Given the description of an element on the screen output the (x, y) to click on. 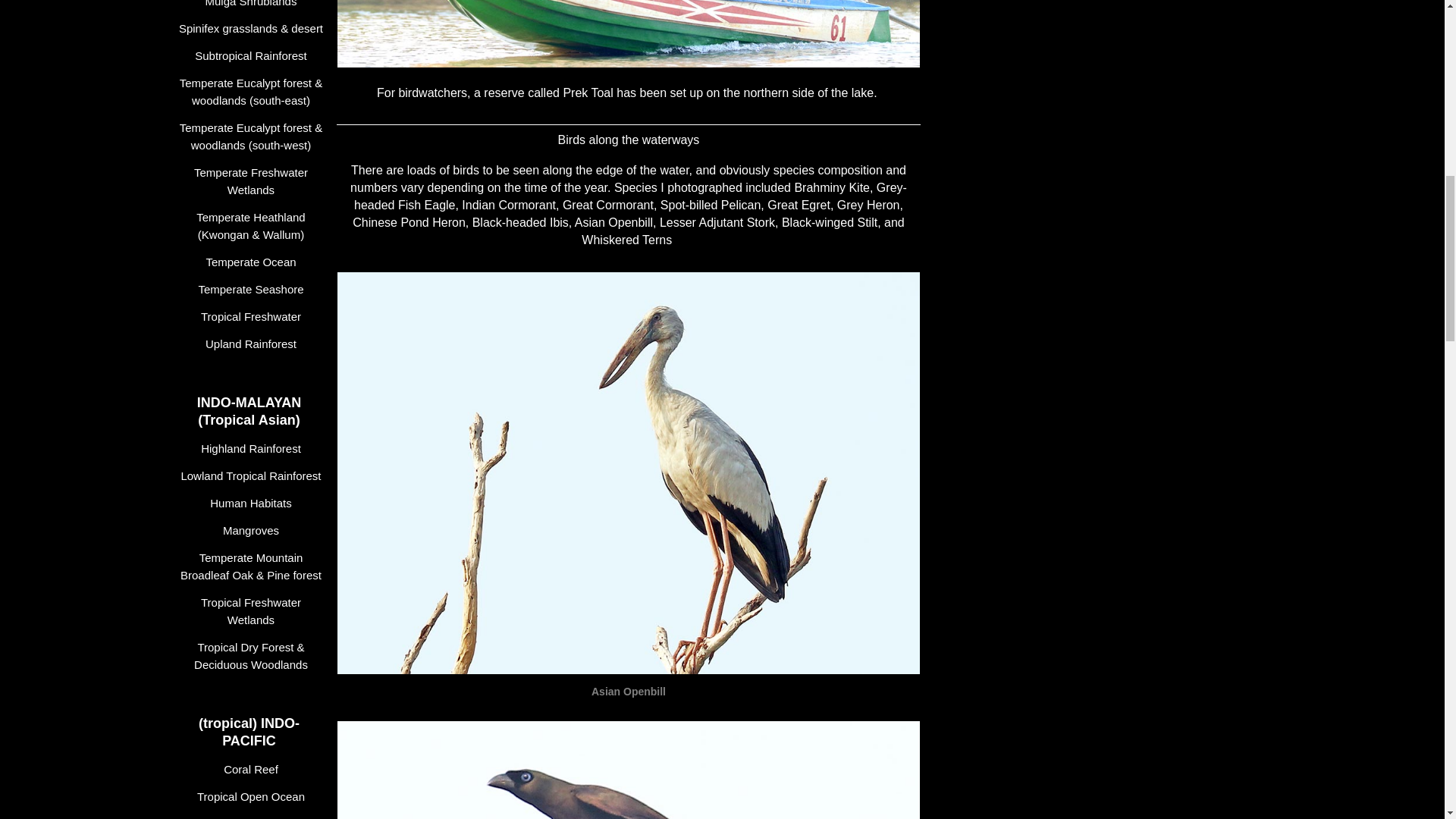
Tropical Freshwater Wetlands (253, 610)
Coral Reef (253, 769)
Upland Rainforest (253, 343)
Temperate Ocean (253, 261)
Tropical Freshwater (253, 316)
Human Habitats (253, 502)
Lowland Tropical Rainforest (253, 475)
Mangroves (253, 529)
PACIFIC Island Rainforest (253, 815)
Subtropical Rainforest (253, 55)
Mulga Shrublands (253, 6)
Temperate Seashore (253, 289)
Highland Rainforest (253, 448)
Tropical Open Ocean (253, 796)
Temperate Freshwater Wetlands (253, 180)
